Given the description of an element on the screen output the (x, y) to click on. 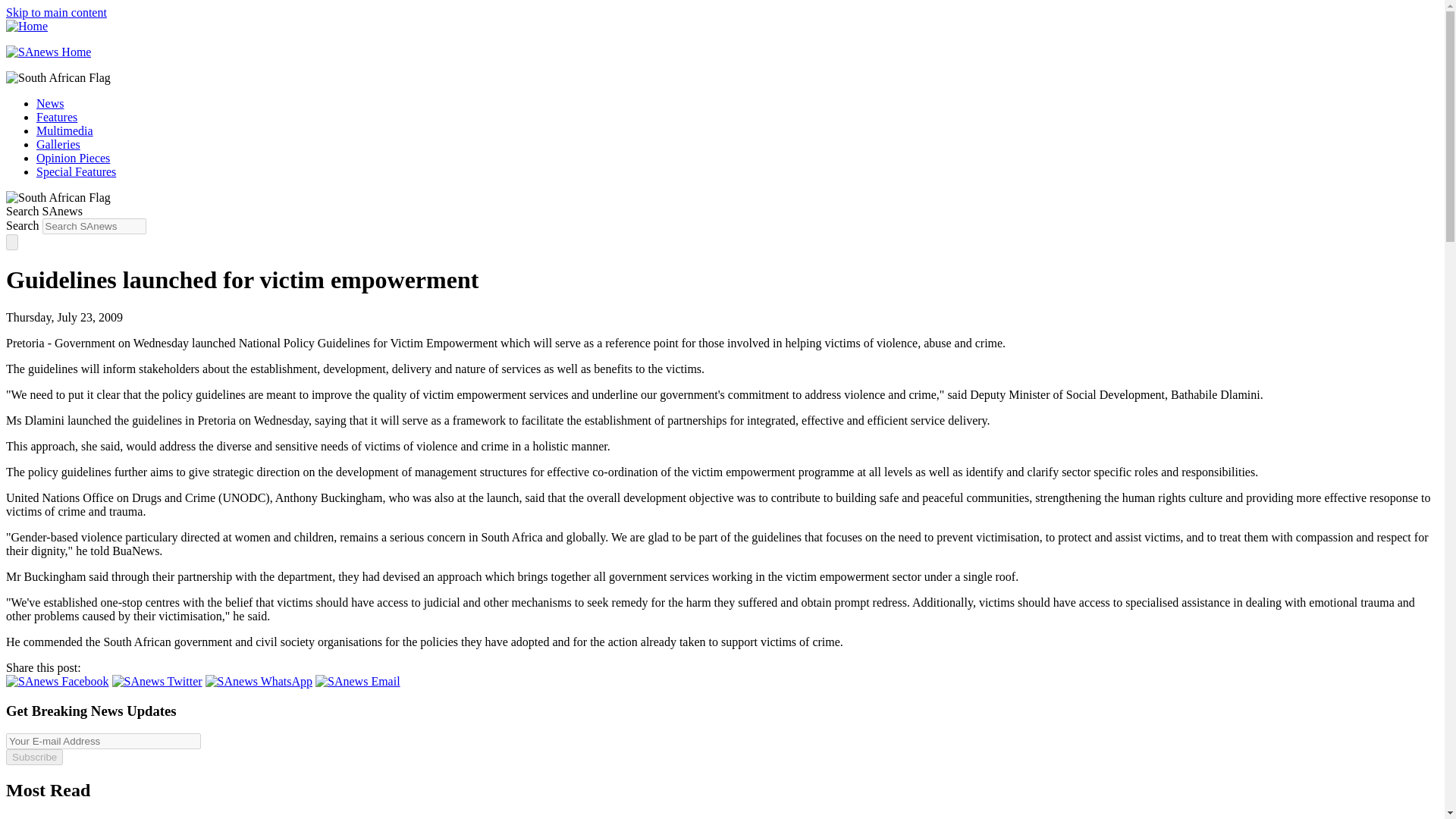
News (50, 103)
Opinion Pieces (73, 157)
Special Features (76, 171)
Share by Email (357, 680)
Galleries (58, 144)
Skip to main content (55, 11)
Multimedia (64, 130)
Subscribe (33, 756)
Share on WhatsApp (259, 680)
